Given the description of an element on the screen output the (x, y) to click on. 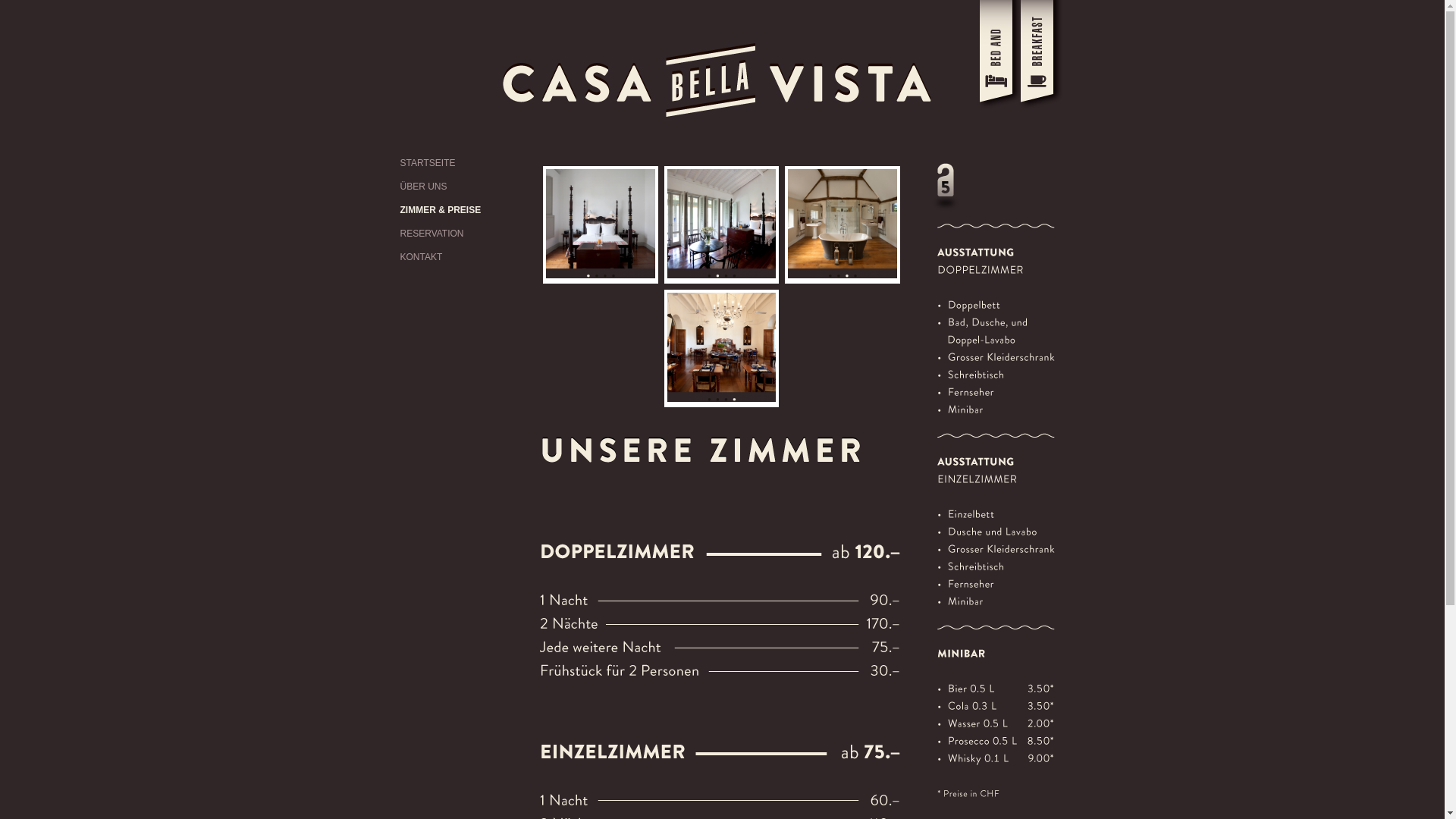
STARTSEITE Element type: text (457, 162)
RESERVATION Element type: text (457, 233)
KONTAKT Element type: text (457, 256)
ZIMMER & PREISE Element type: text (457, 209)
